Given the description of an element on the screen output the (x, y) to click on. 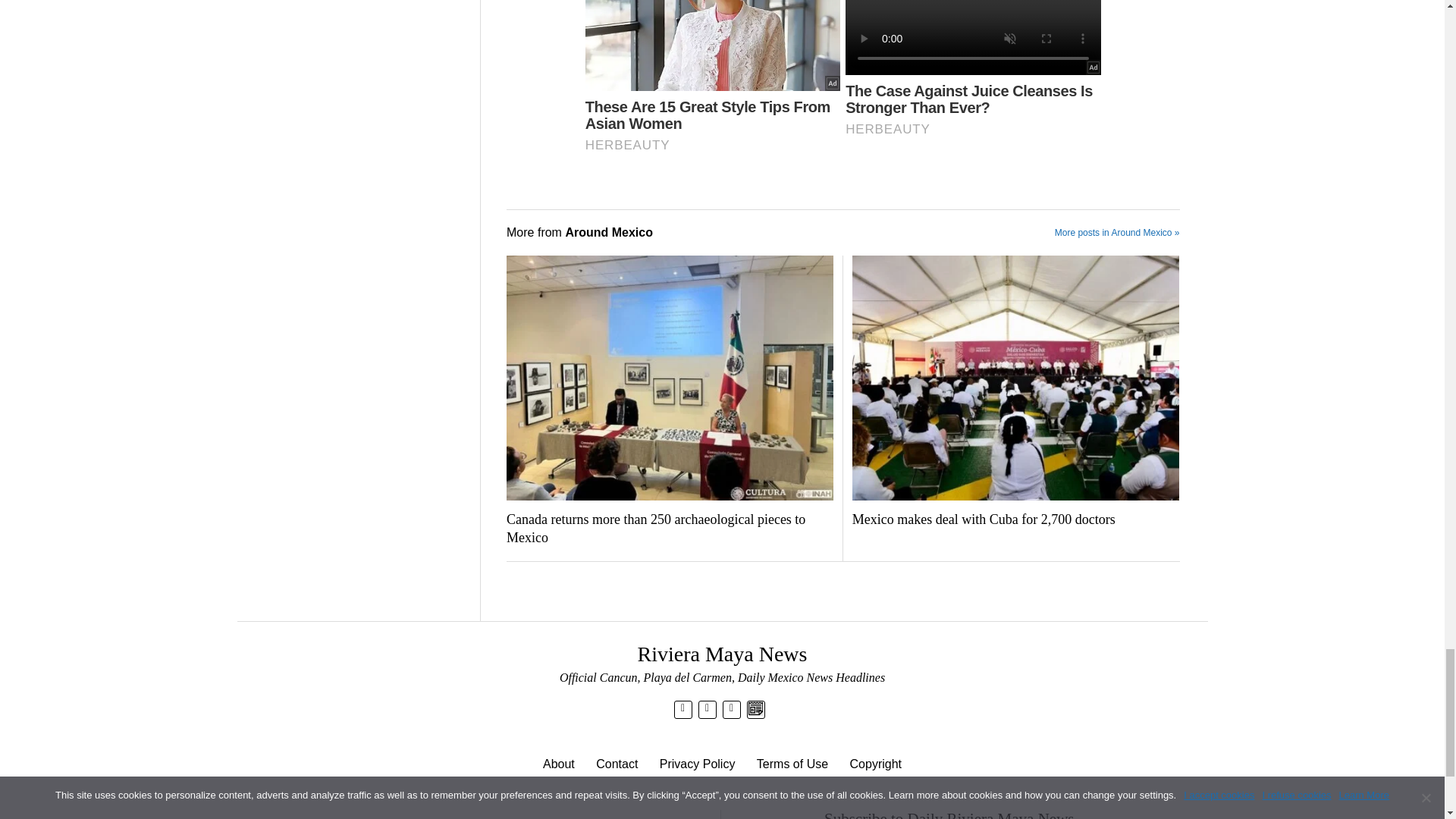
facebook (706, 707)
rss (731, 707)
